Given the description of an element on the screen output the (x, y) to click on. 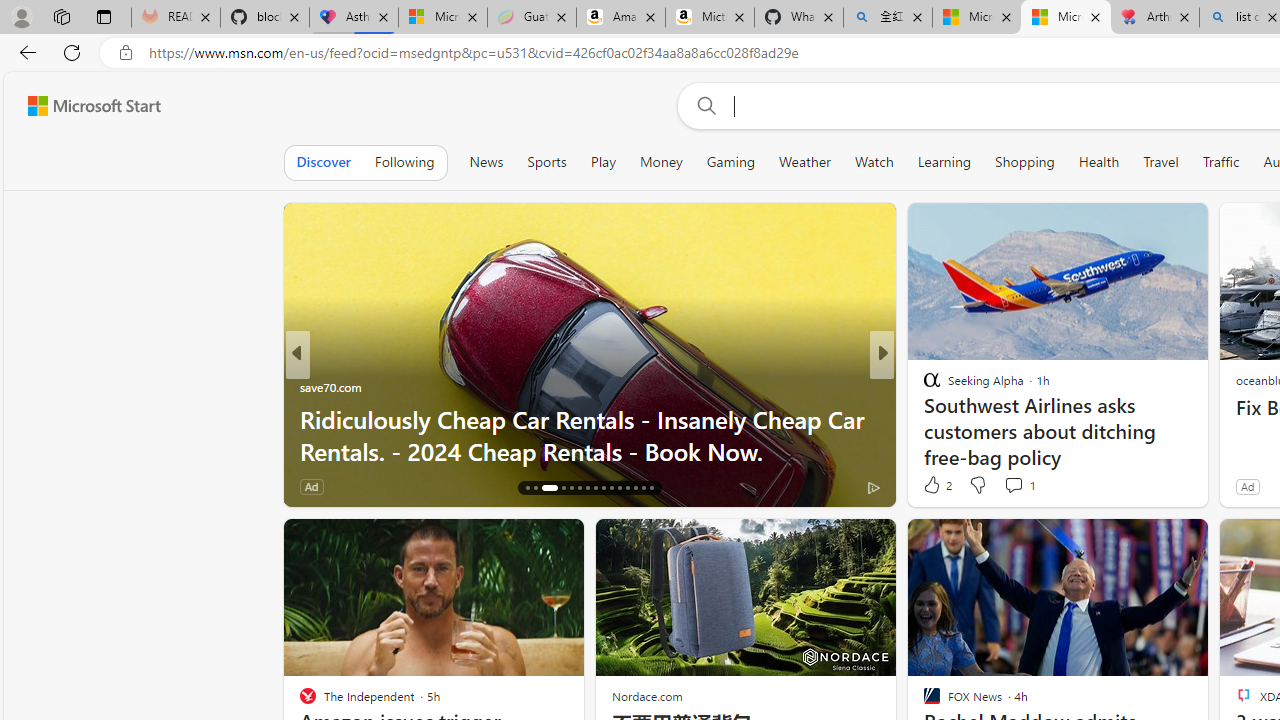
View comments 25 Comment (1014, 485)
AutomationID: tab-18 (549, 487)
AutomationID: tab-28 (635, 487)
View comments 1 Comment (1019, 484)
22 Like (934, 486)
119 Like (936, 486)
View comments 31 Comment (1029, 486)
Play (603, 162)
